Given the description of an element on the screen output the (x, y) to click on. 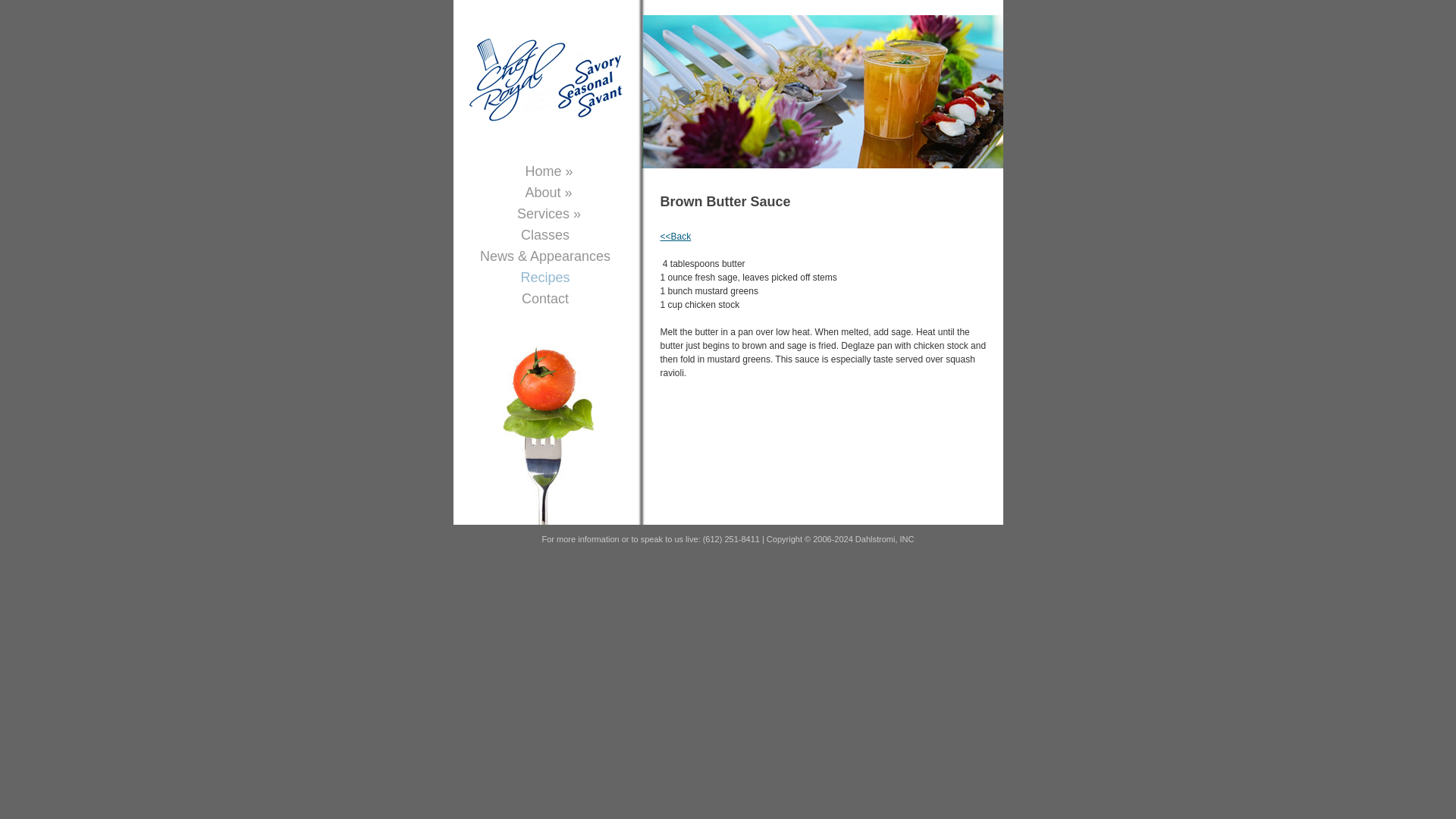
Contact (544, 298)
Classes (544, 234)
Recipes (544, 277)
